Given the description of an element on the screen output the (x, y) to click on. 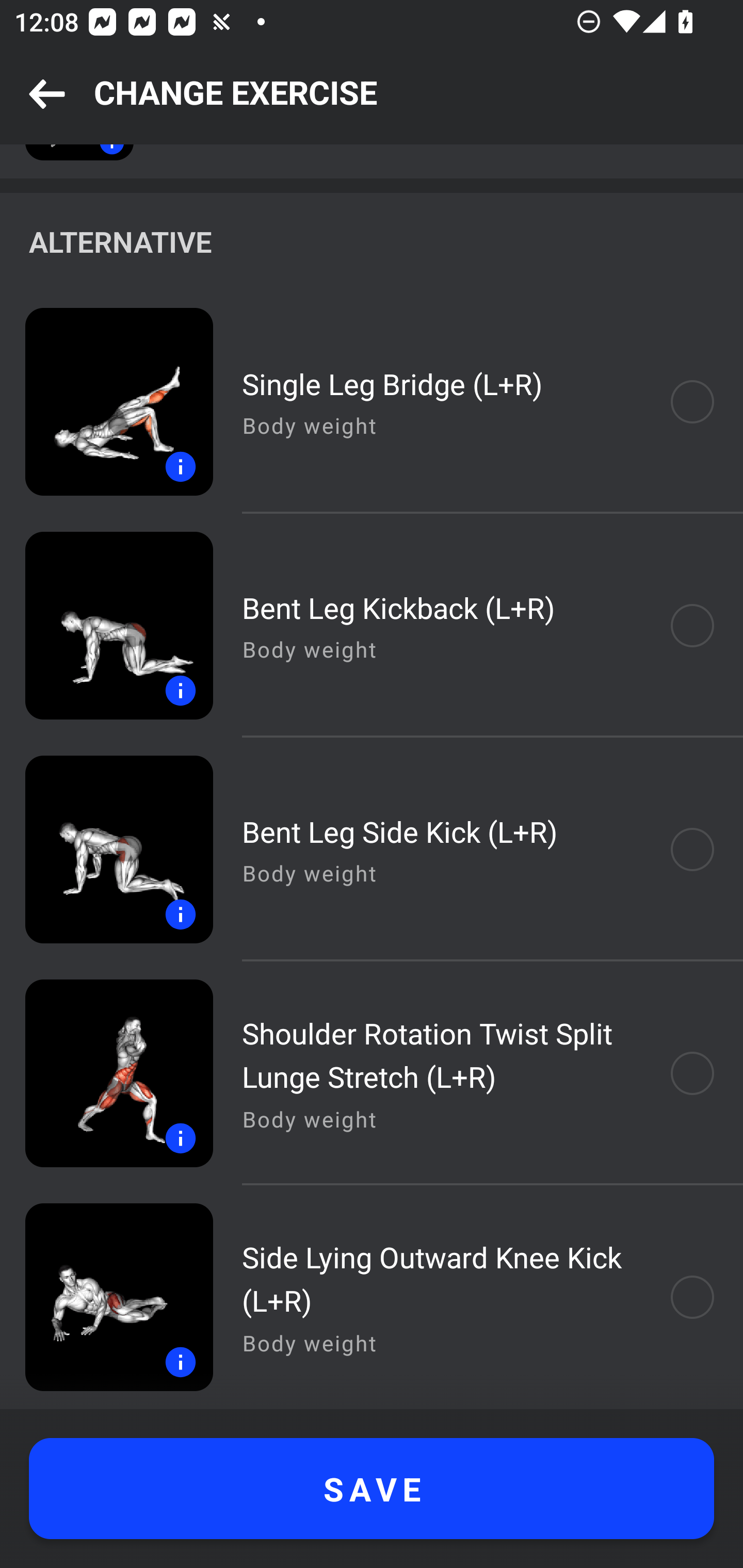
Navigation icon (46, 94)
details Single Leg Bridge (L+R) Body weight (371, 402)
details (106, 402)
details Bent Leg Kickback (L+R) Body weight (371, 625)
details (106, 625)
details Bent Leg Side Kick (L+R) Body weight (371, 848)
details (106, 848)
details (106, 1073)
details (106, 1297)
SAVE (371, 1488)
